Given the description of an element on the screen output the (x, y) to click on. 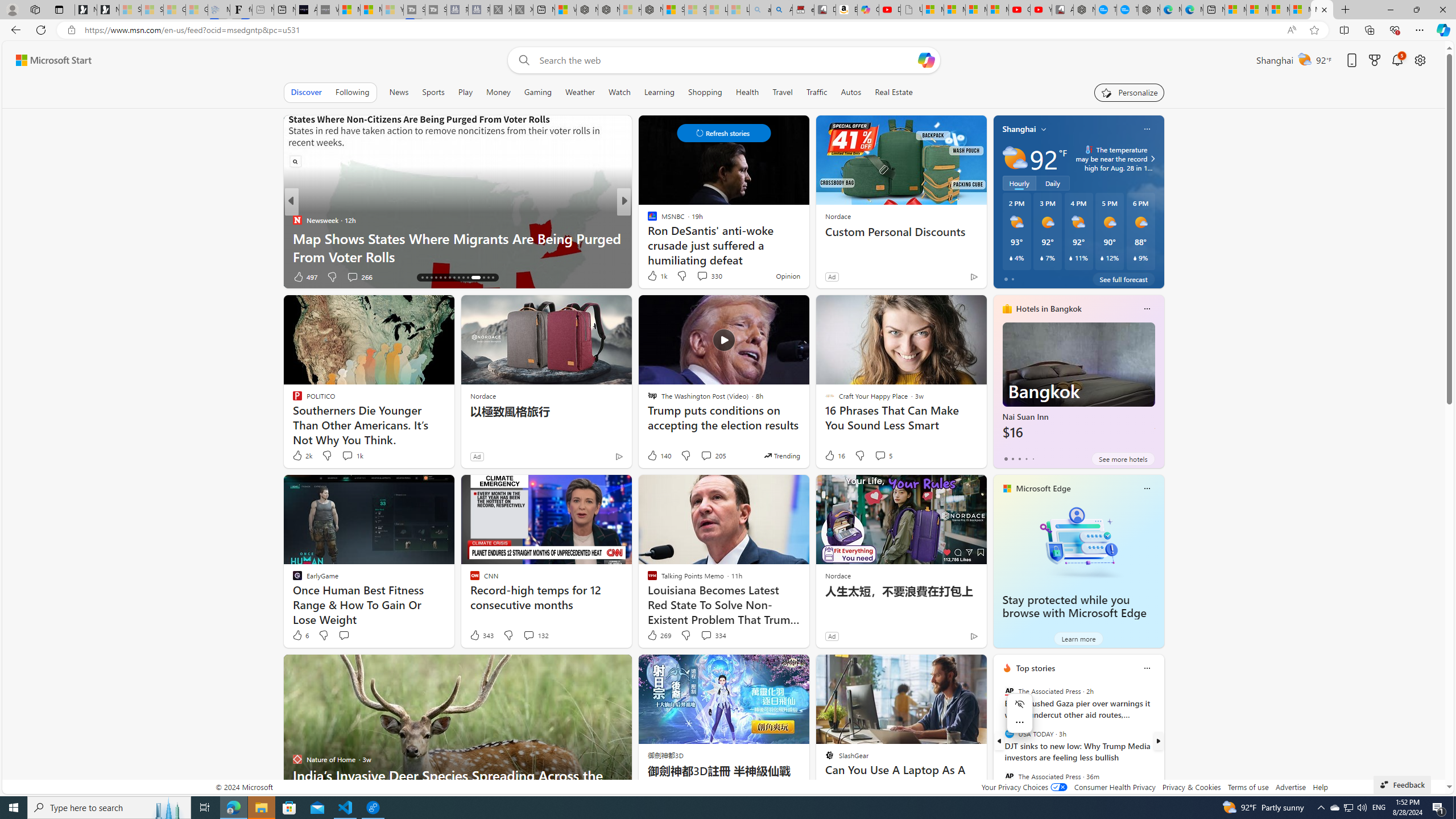
Day 1: Arriving in Yemen (surreal to be here) - YouTube (889, 9)
My location (1043, 128)
Terms of use (1247, 786)
Dislike (685, 634)
Learning (658, 92)
You're following FOX News (253, 279)
140 Like (658, 455)
